Given the description of an element on the screen output the (x, y) to click on. 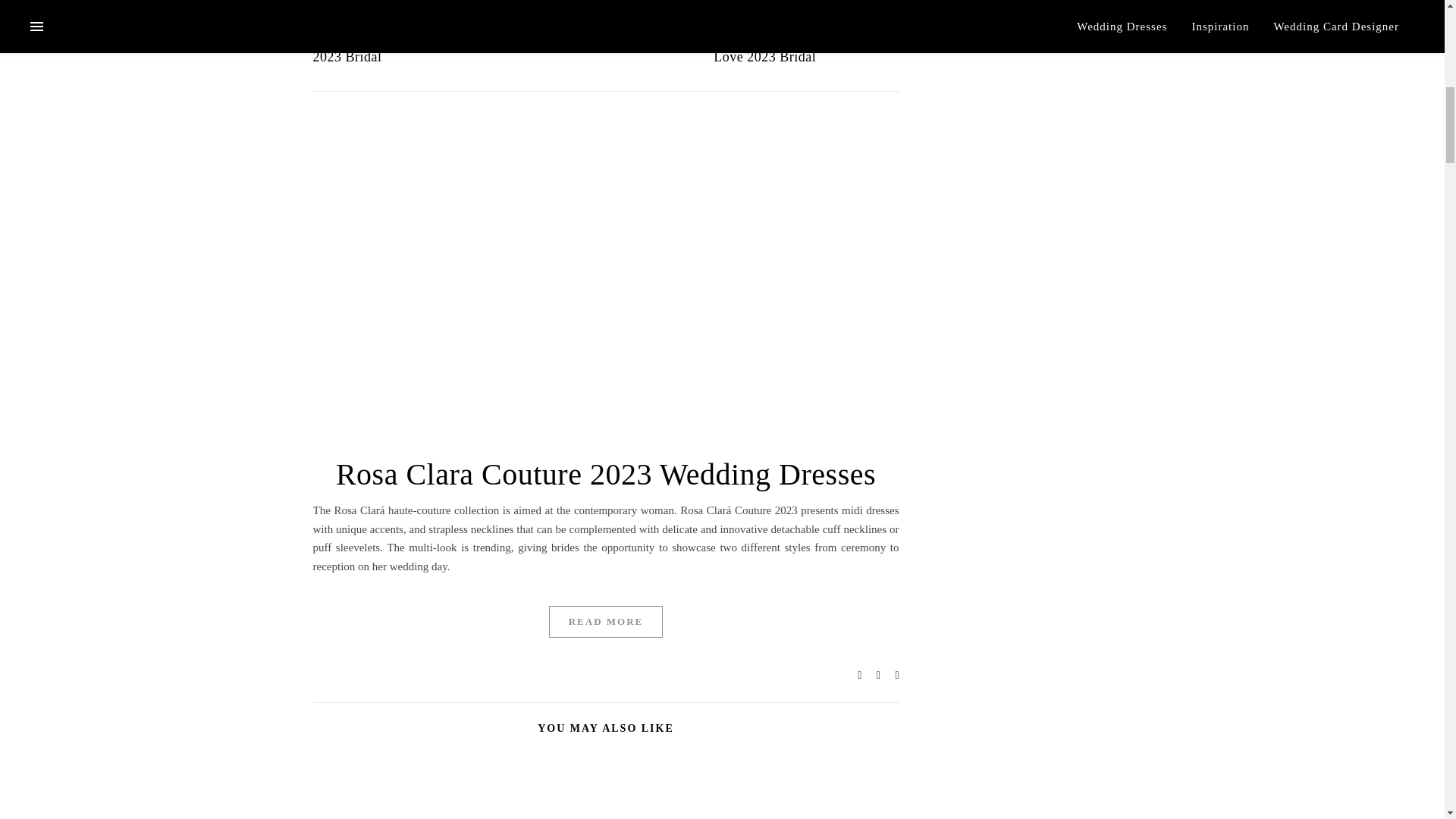
READ MORE (605, 622)
Pronovias The Essence of Love 2023 Bridal (788, 46)
Rosa Clara Couture 2023 Wedding Dresses (606, 474)
Elie Saab Fall 2023 Bridal (590, 36)
